Given the description of an element on the screen output the (x, y) to click on. 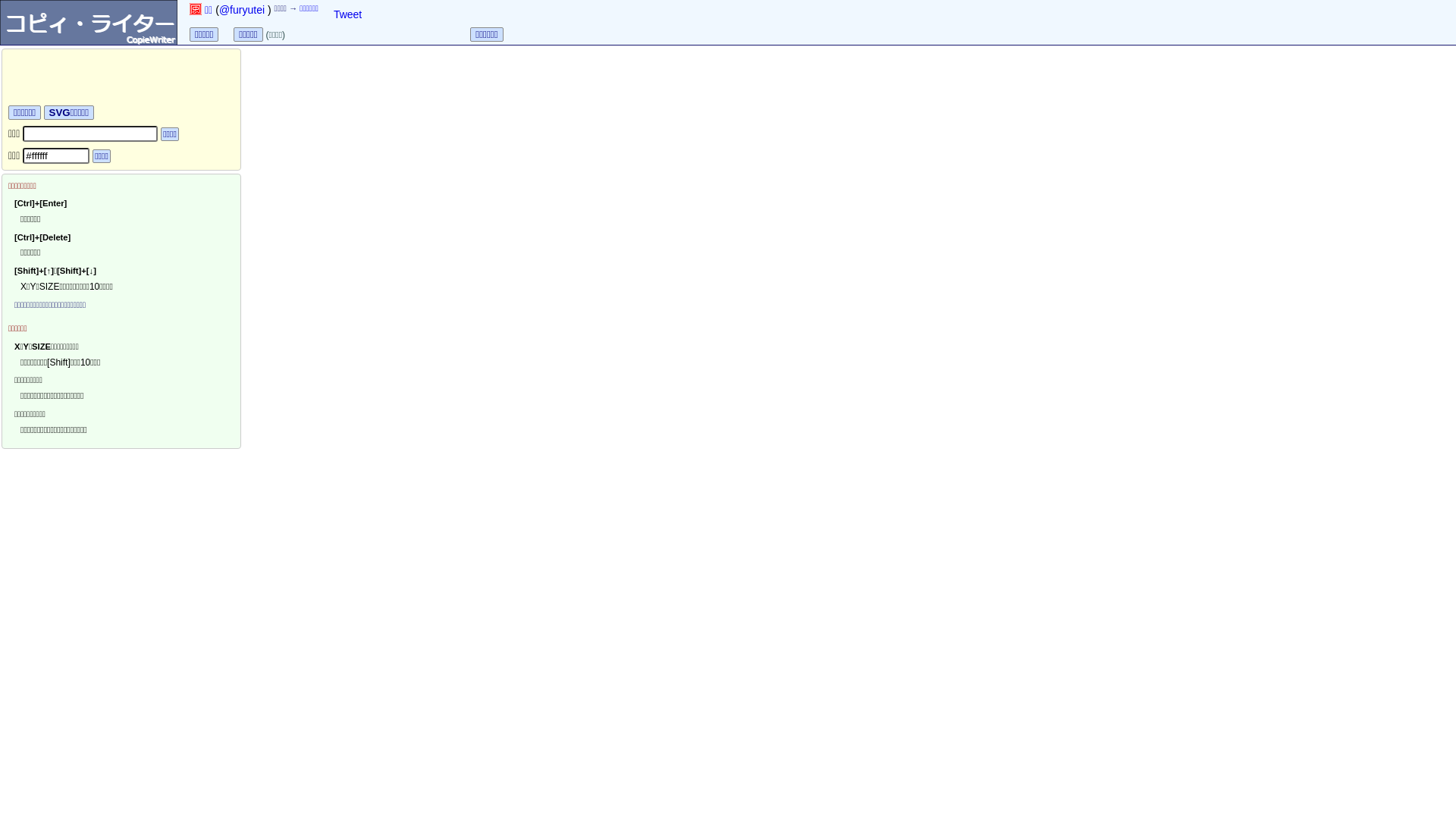
@furyutei Element type: text (241, 9)
Tweet Element type: text (347, 14)
